Given the description of an element on the screen output the (x, y) to click on. 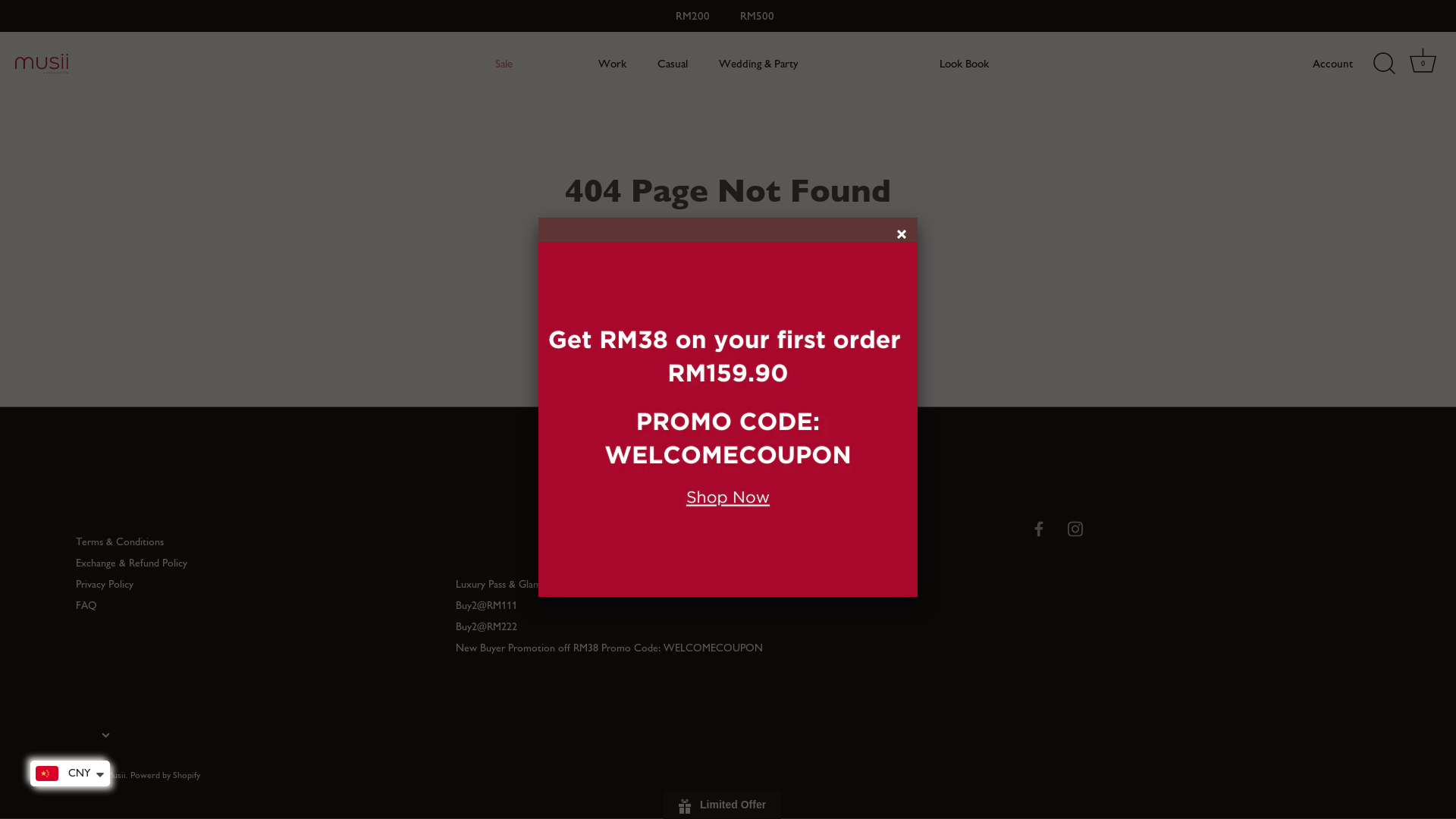
Privacy Policy Element type: text (104, 583)
Musii Element type: text (115, 774)
Casual Element type: text (672, 63)
Exchange & Refund Policy Element type: text (131, 562)
Wedding & Party Element type: text (758, 63)
FAQ Element type: text (86, 605)
Terms & Conditions Element type: text (119, 541)
Sale Element type: text (503, 63)
New Buyer Promotion off RM38 Promo Code: WELCOMECOUPON Element type: text (608, 647)
Work Element type: text (612, 63)
Account Element type: text (1345, 64)
Powerd by Shopify Element type: text (165, 774)
Continue shopping Element type: text (815, 253)
Luxury Pass & Glamour Pass Element type: text (516, 583)
Buy2@RM111 Element type: text (486, 605)
Buy2@RM222 Element type: text (486, 626)
Instagram Element type: text (1074, 527)
Look Book Element type: text (964, 63)
Close Element type: hover (903, 235)
Cart
0 Element type: text (1422, 63)
